Given the description of an element on the screen output the (x, y) to click on. 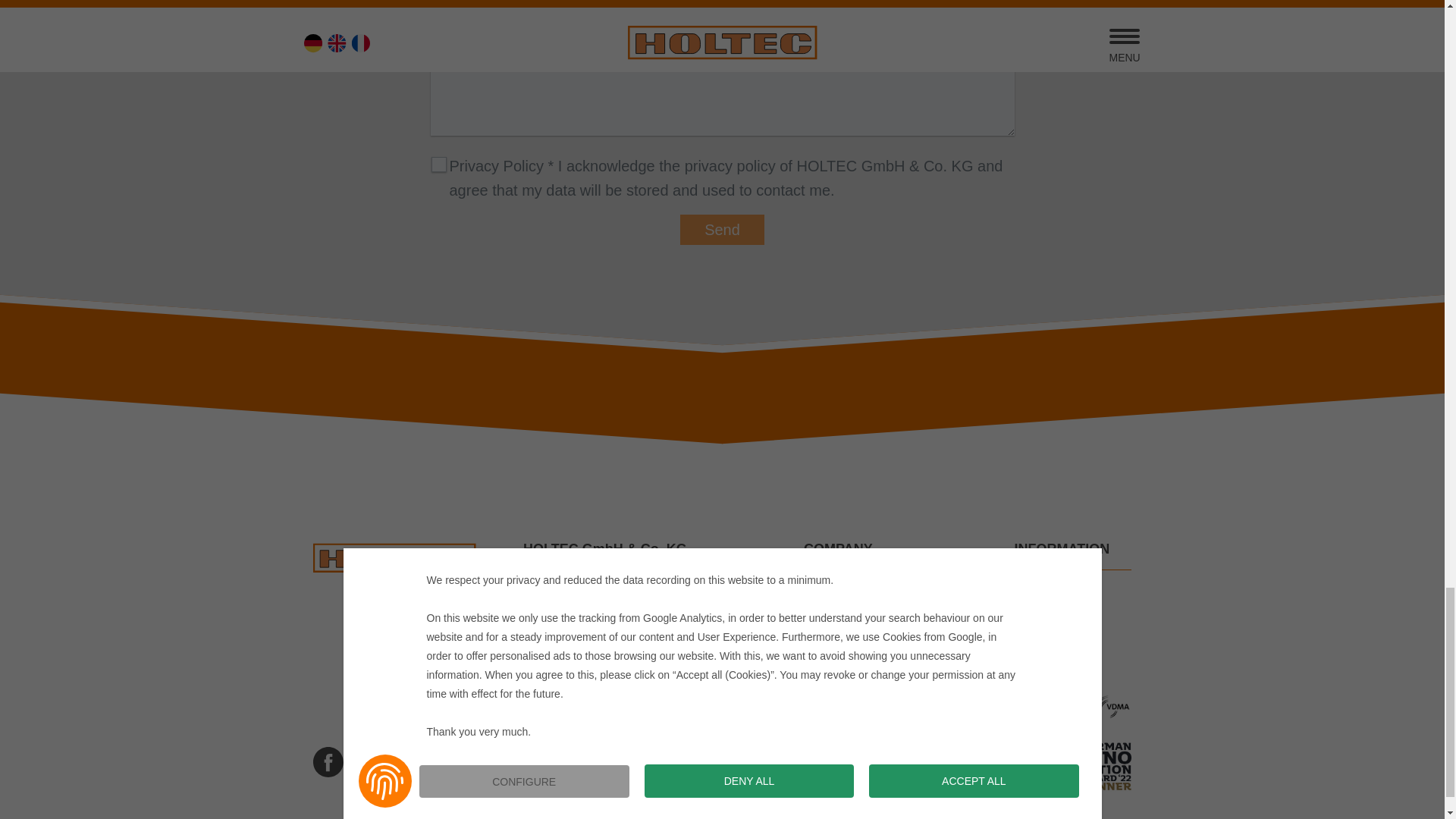
Send (721, 229)
